Given the description of an element on the screen output the (x, y) to click on. 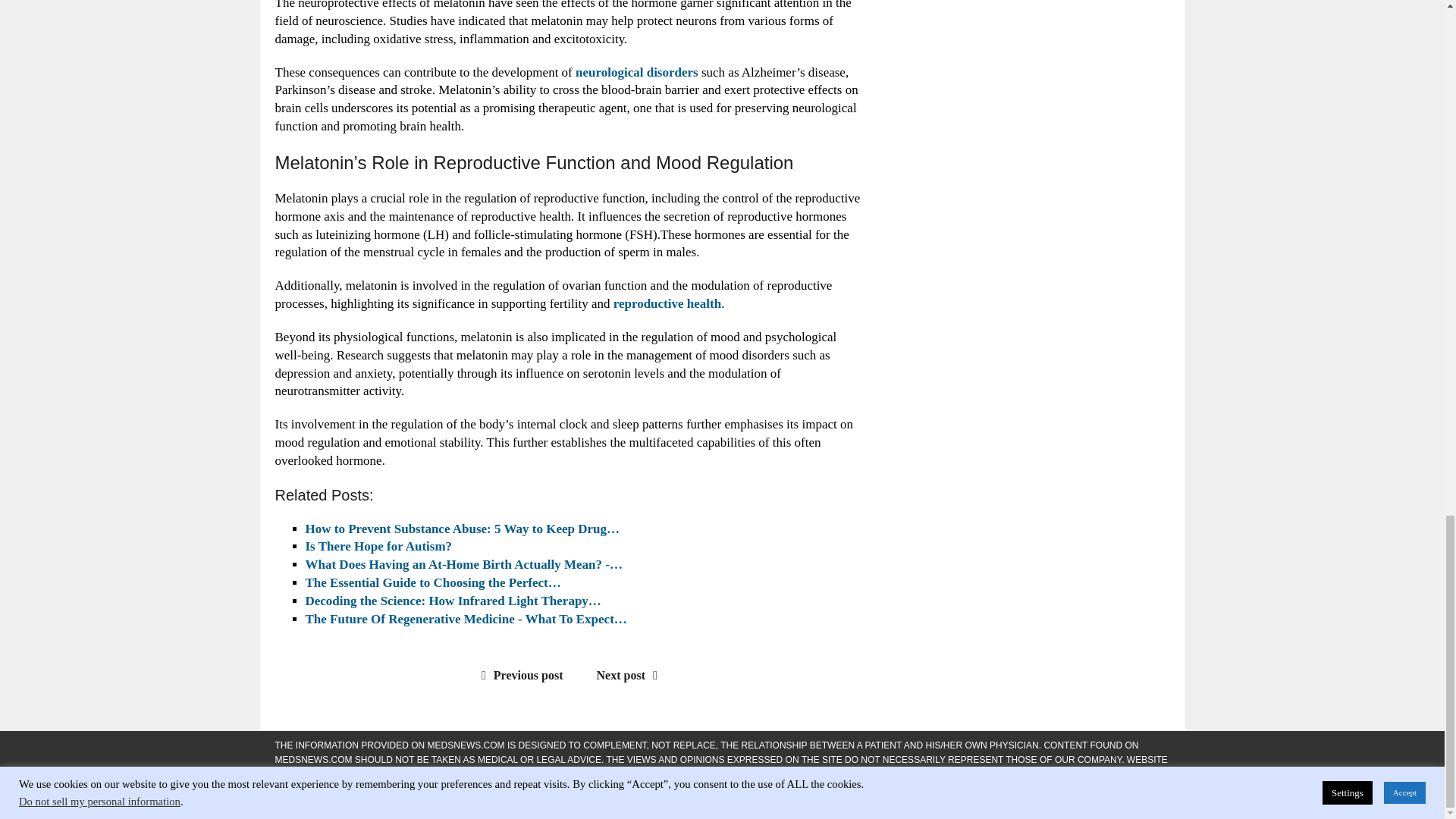
neurological disorders (636, 72)
Is There Hope for Autism? (377, 545)
reproductive health (666, 303)
